Given the description of an element on the screen output the (x, y) to click on. 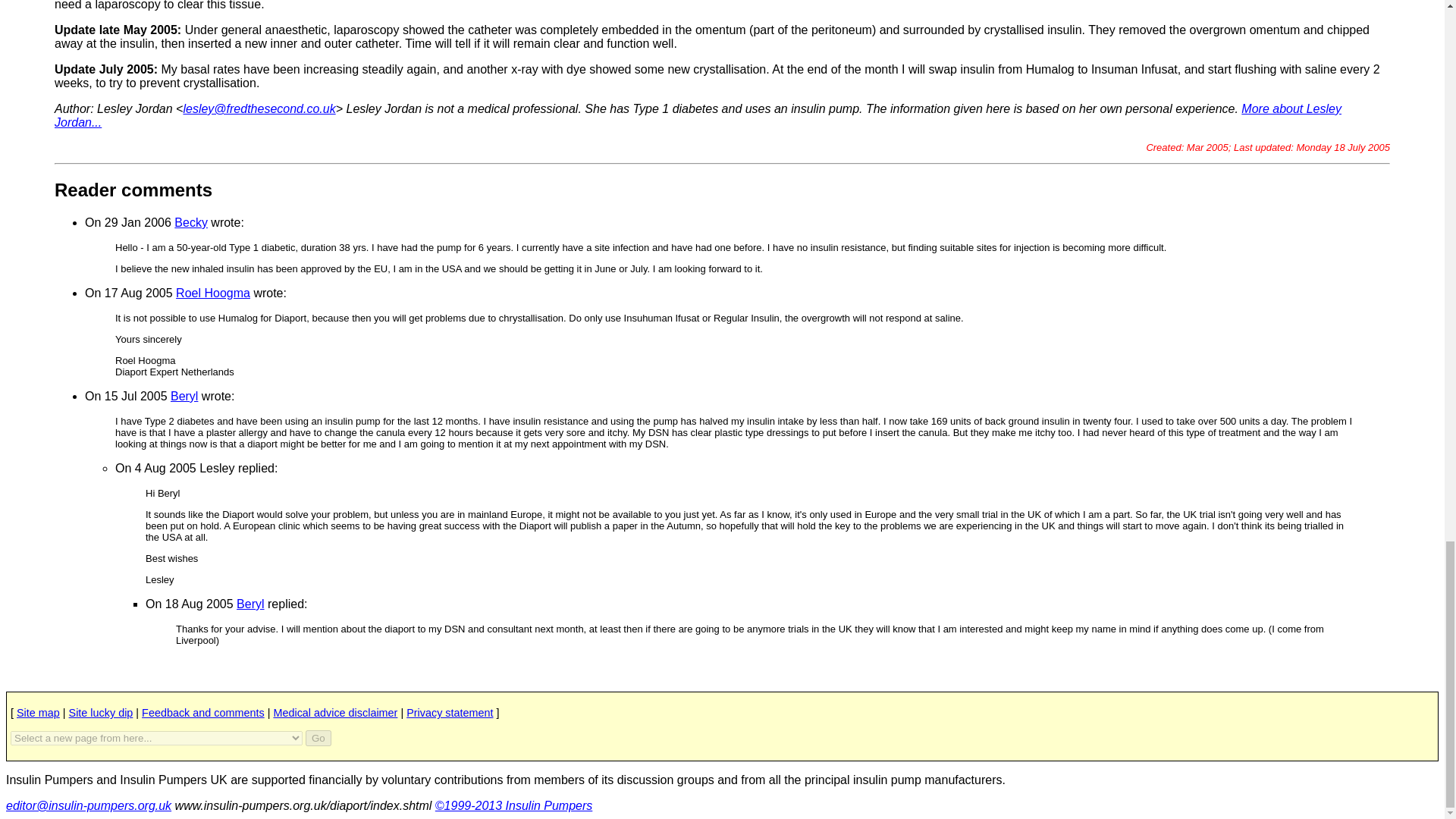
Go (318, 738)
